Given the description of an element on the screen output the (x, y) to click on. 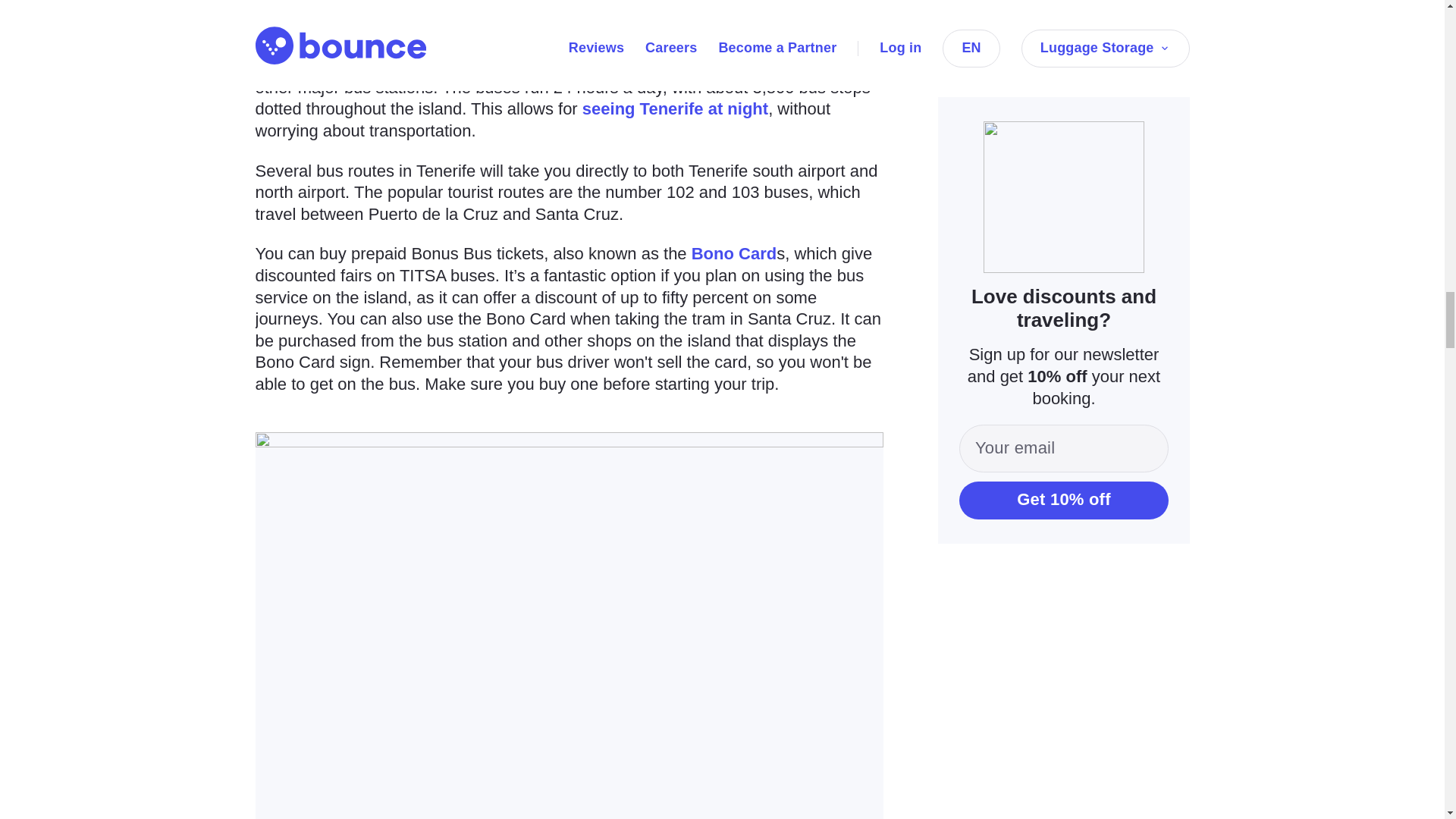
Bono Card (733, 253)
Los Cristianos (506, 65)
seeing Tenerife at night (675, 108)
